Given the description of an element on the screen output the (x, y) to click on. 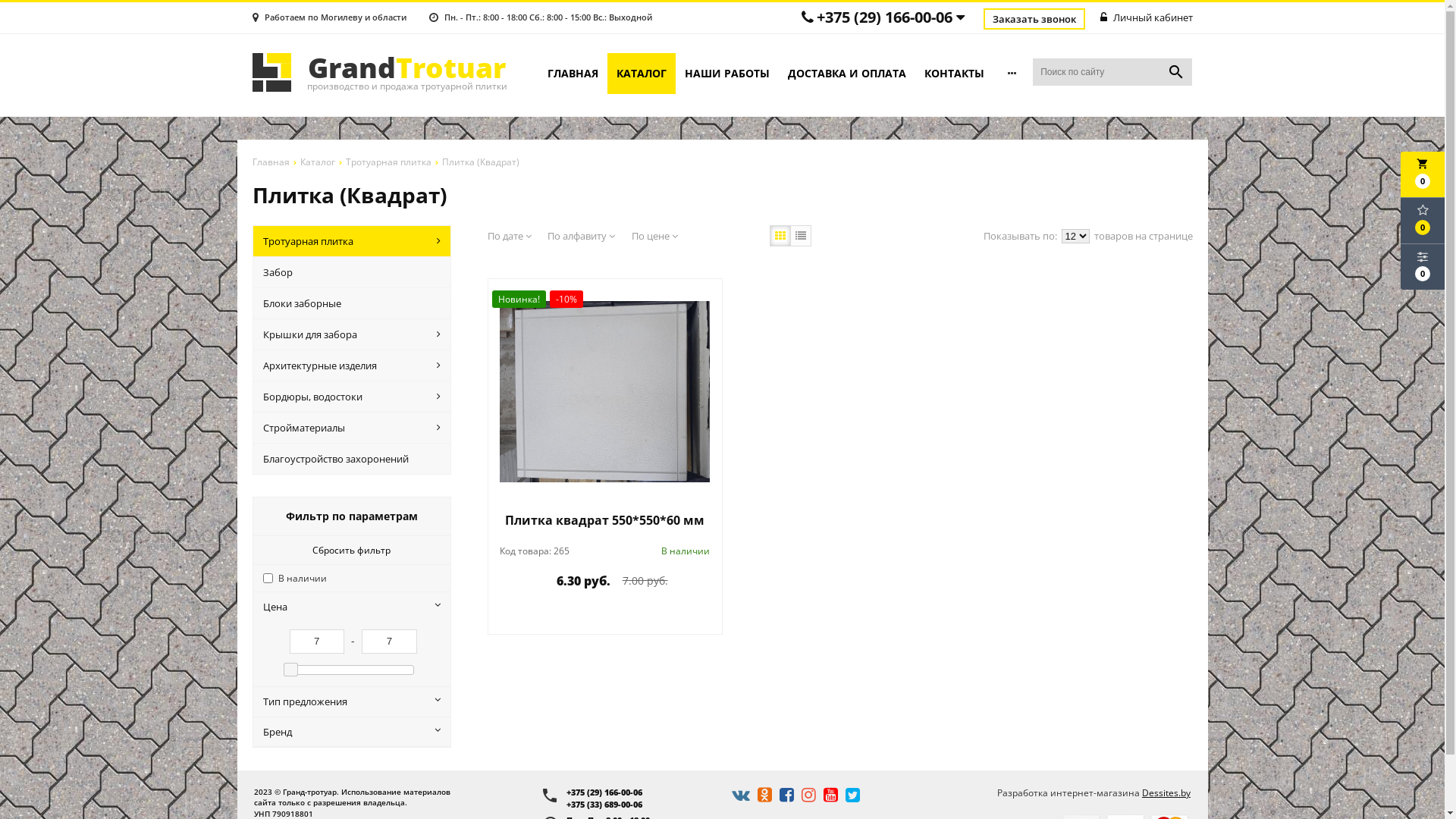
Dessites.by Element type: text (1166, 792)
local_grocery_store
0 Element type: text (1422, 174)
0 Element type: text (1422, 266)
+375 (33) 689-00-06 Element type: text (639, 804)
+375 (29) 166-00-06 Element type: text (639, 792)
+375 (29) 166-00-06 Element type: text (883, 17)
0 Element type: text (1422, 220)
search Element type: text (1176, 71)
